Given the description of an element on the screen output the (x, y) to click on. 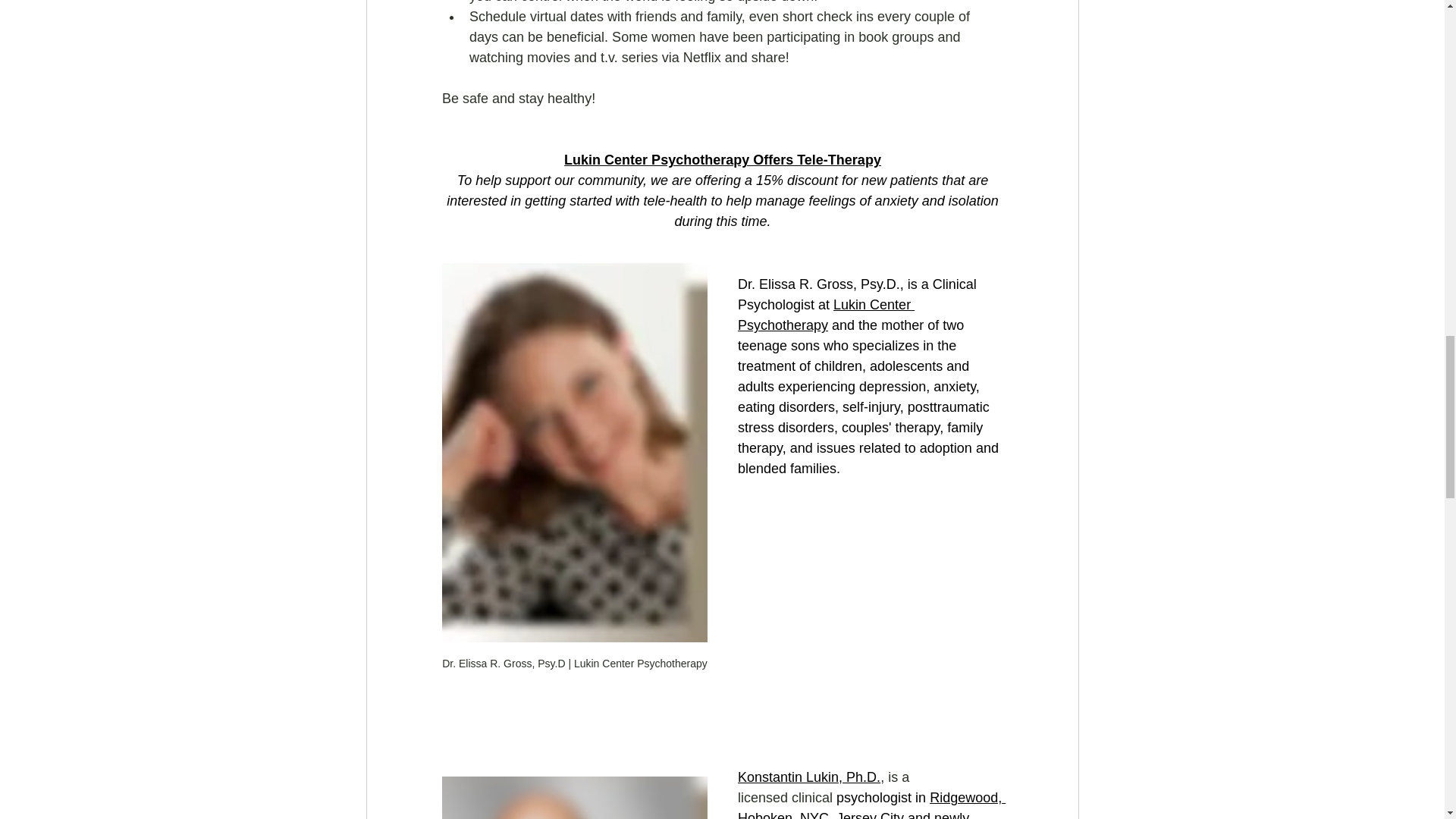
Lukin Center Psychotherapy (825, 314)
Lukin Center Psychotherapy Offers Tele-Therapy (722, 159)
